Given the description of an element on the screen output the (x, y) to click on. 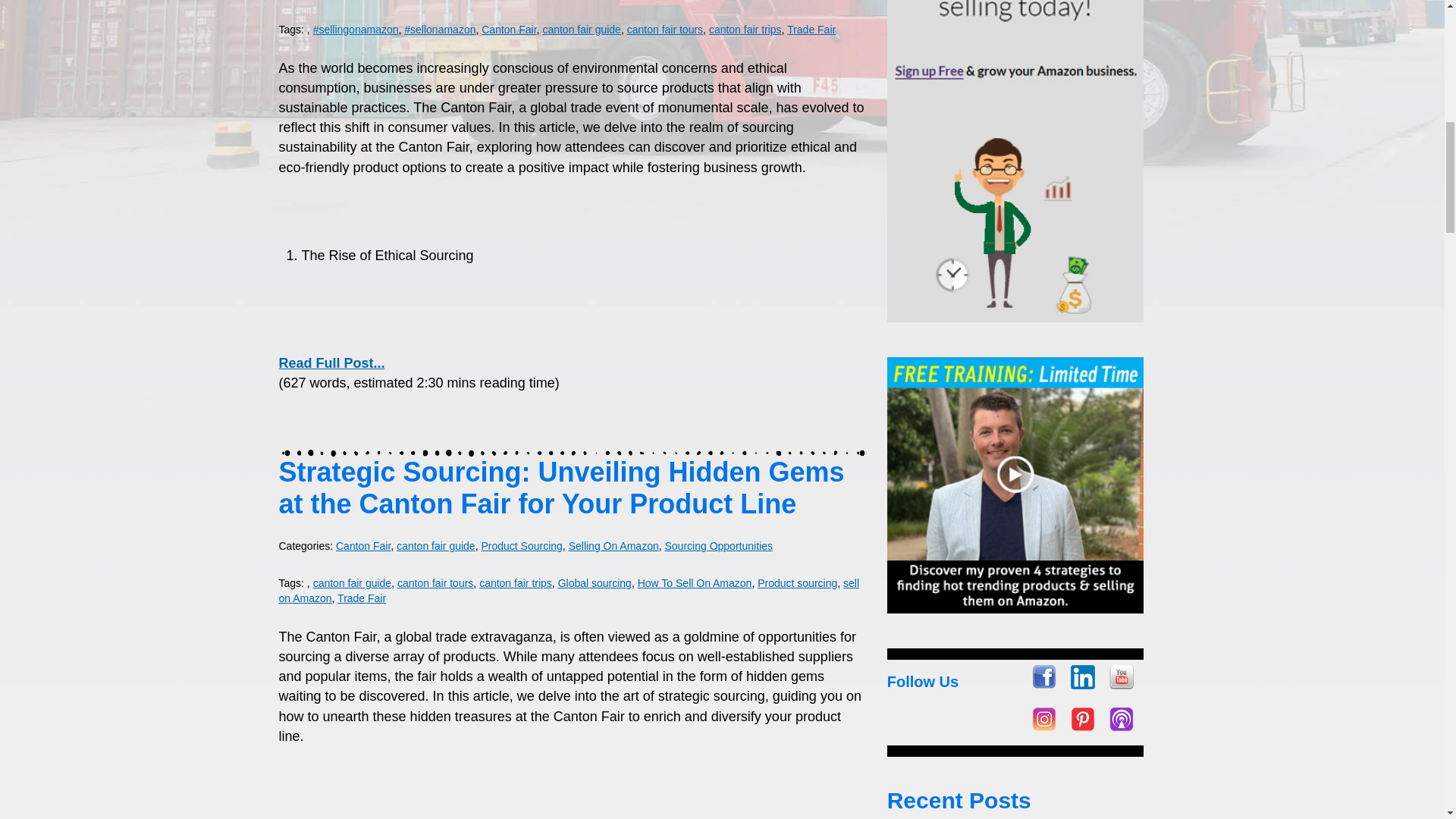
Canton Fair (508, 29)
canton fair tours (665, 29)
canton fair trips (745, 29)
Trade Fair (811, 29)
canton fair guide (581, 29)
